Given the description of an element on the screen output the (x, y) to click on. 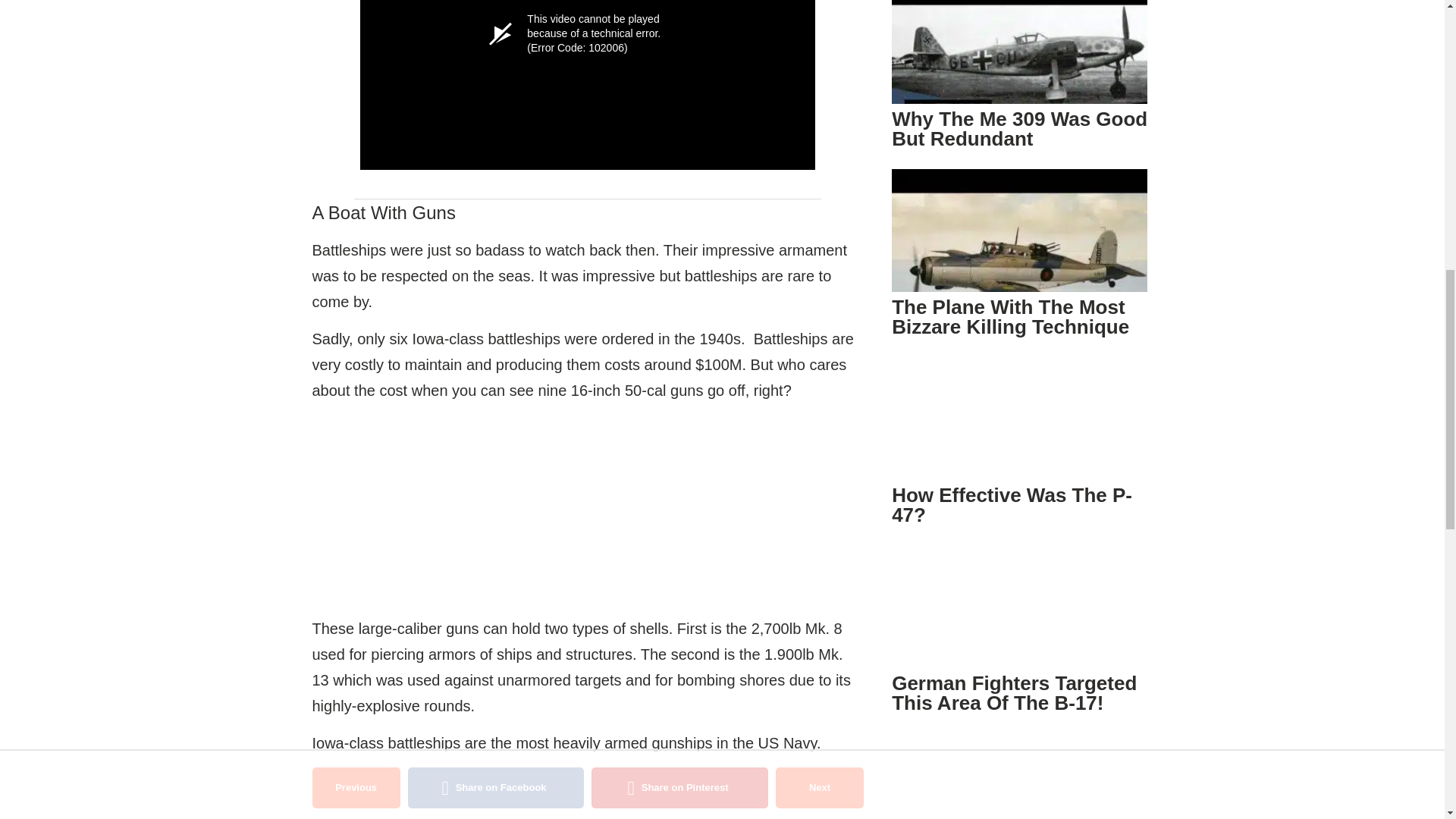
Share on Pinterest (679, 787)
